Given the description of an element on the screen output the (x, y) to click on. 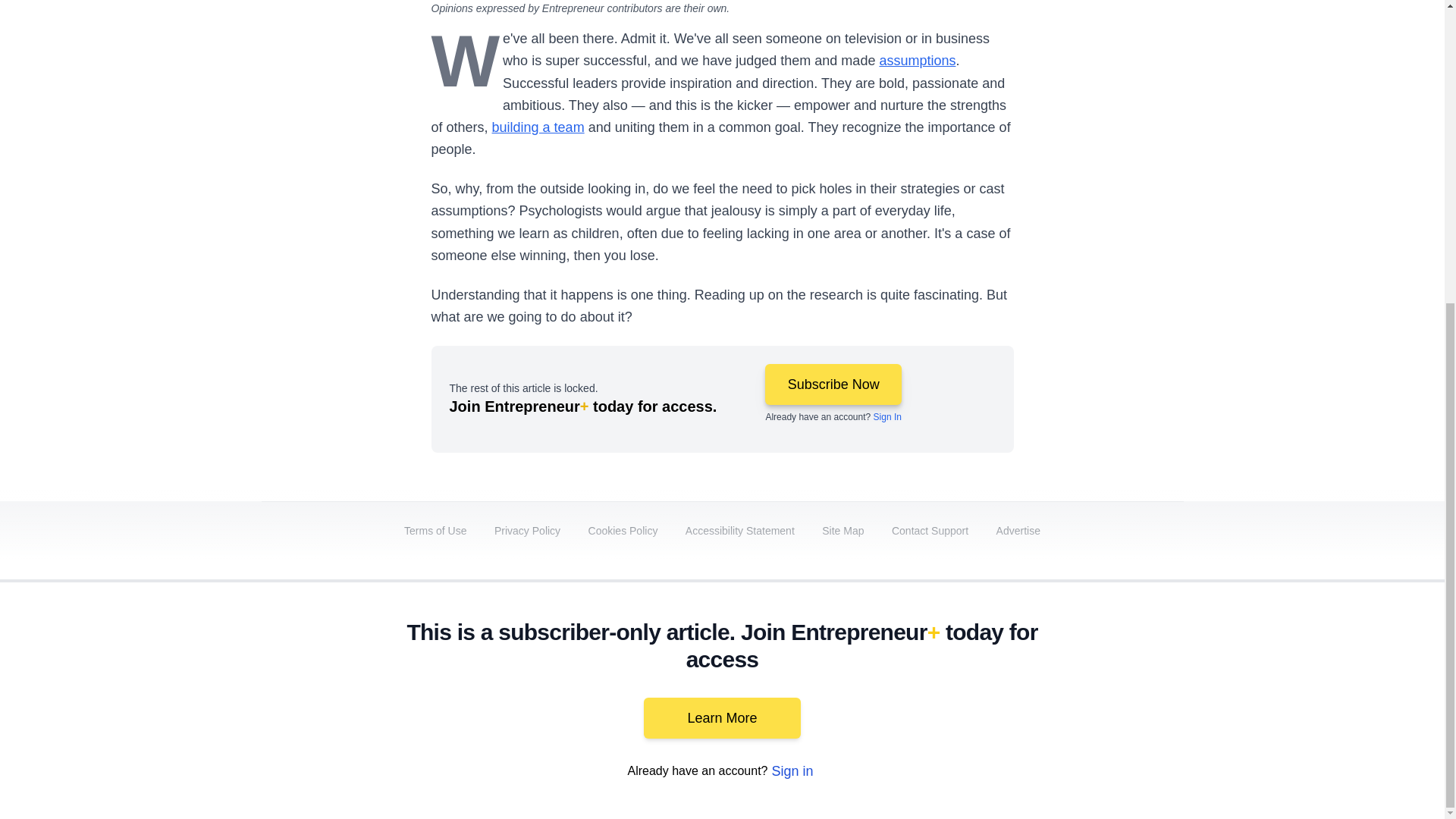
facebook (866, 691)
rss (1164, 691)
tiktok (1079, 691)
linkedin (952, 691)
instagram (1037, 691)
snapchat (1121, 691)
youtube (994, 691)
twitter (909, 691)
